Given the description of an element on the screen output the (x, y) to click on. 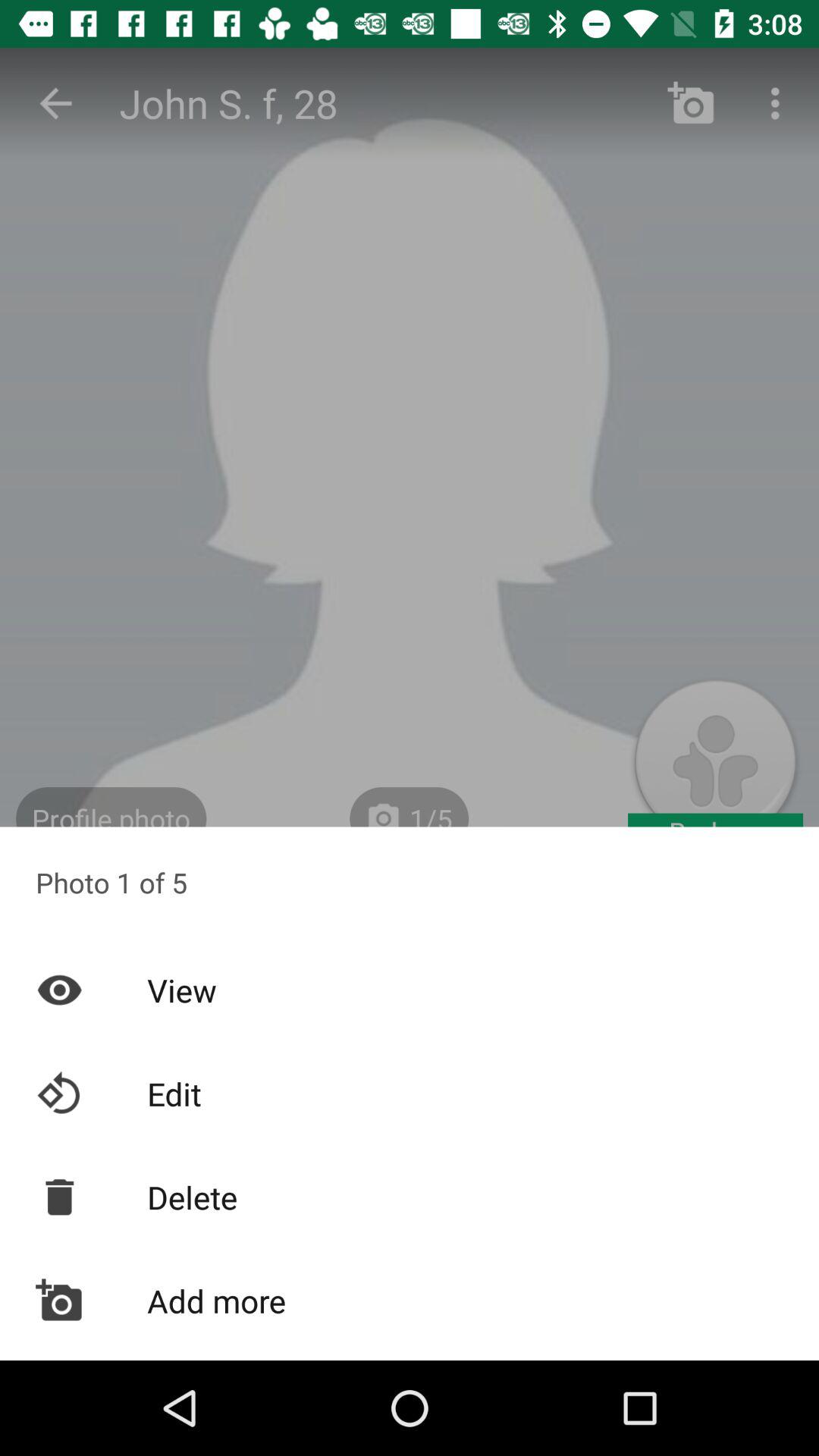
tap the item below the view item (409, 1093)
